Given the description of an element on the screen output the (x, y) to click on. 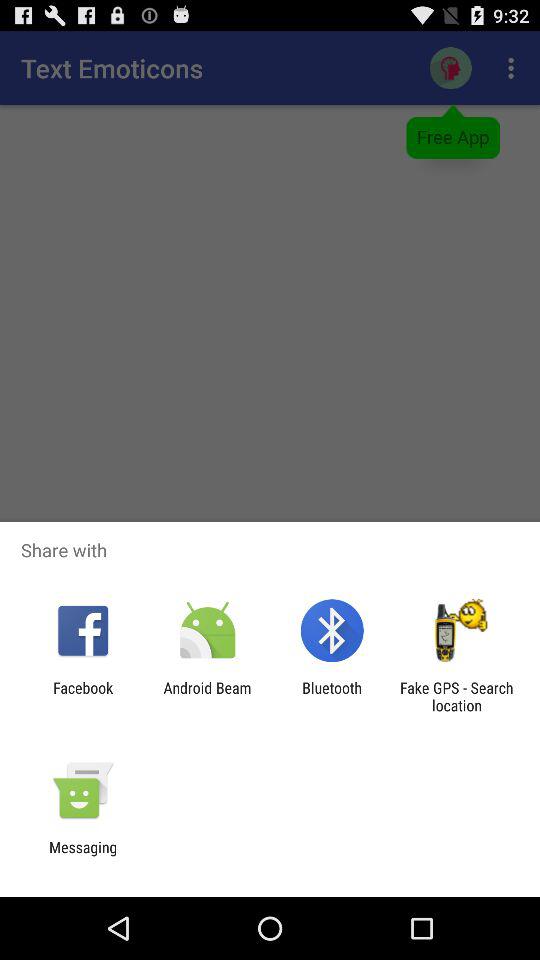
open the bluetooth item (331, 696)
